Given the description of an element on the screen output the (x, y) to click on. 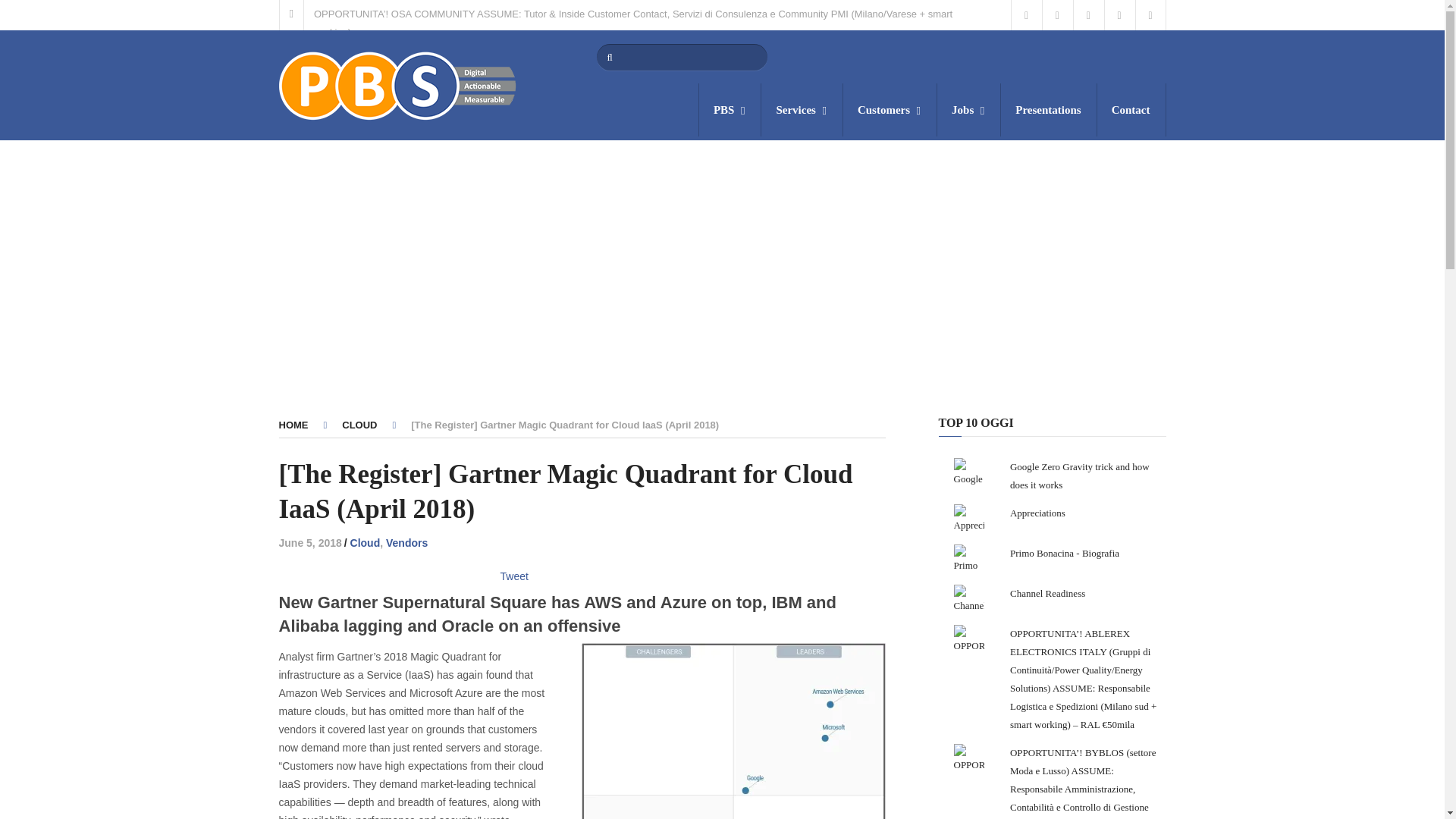
View all posts in Cloud (365, 542)
Services (800, 109)
View all posts in Vendors (406, 542)
PBS (729, 109)
Gartner 2018 Magic Quadrant for infrastructure as a Service  (728, 730)
